Given the description of an element on the screen output the (x, y) to click on. 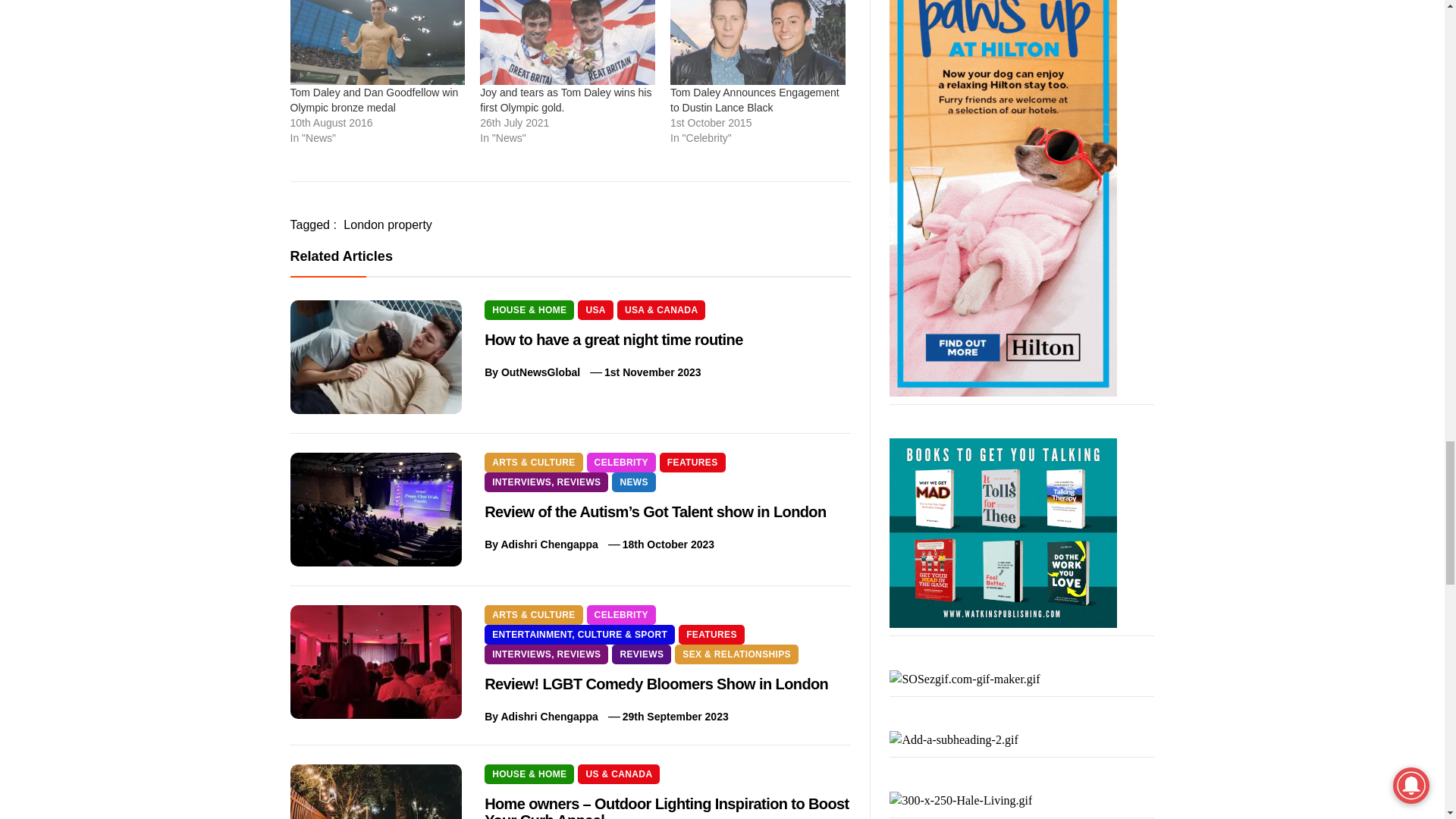
Tom Daley and Dan Goodfellow win Olympic bronze medal (376, 42)
Joy and tears as Tom Daley wins his first Olympic gold. (567, 42)
Joy and tears as Tom Daley wins his first Olympic gold. (565, 99)
Tom Daley Announces Engagement to Dustin Lance Black (754, 99)
Tom Daley and Dan Goodfellow win Olympic bronze medal (373, 99)
Tom Daley Announces Engagement to Dustin Lance Black (757, 42)
